Given the description of an element on the screen output the (x, y) to click on. 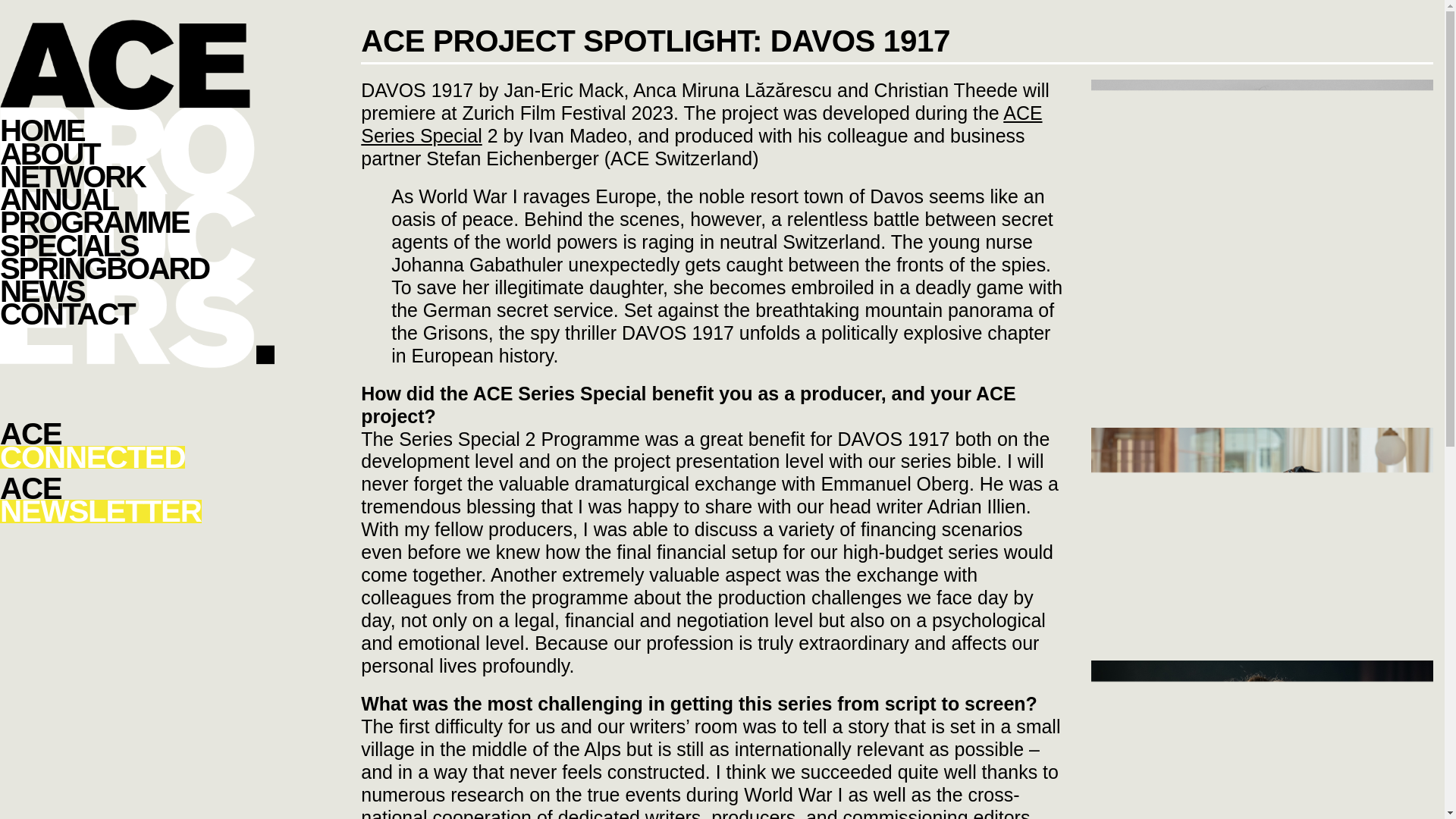
SPRINGBOARD (137, 268)
davos-1917-still1 (1261, 541)
NETWORK (137, 176)
CONTACT (137, 313)
davos-1917-still2 (137, 445)
ACE Series Special (1261, 739)
NEWS (701, 124)
HOME (137, 500)
